Given the description of an element on the screen output the (x, y) to click on. 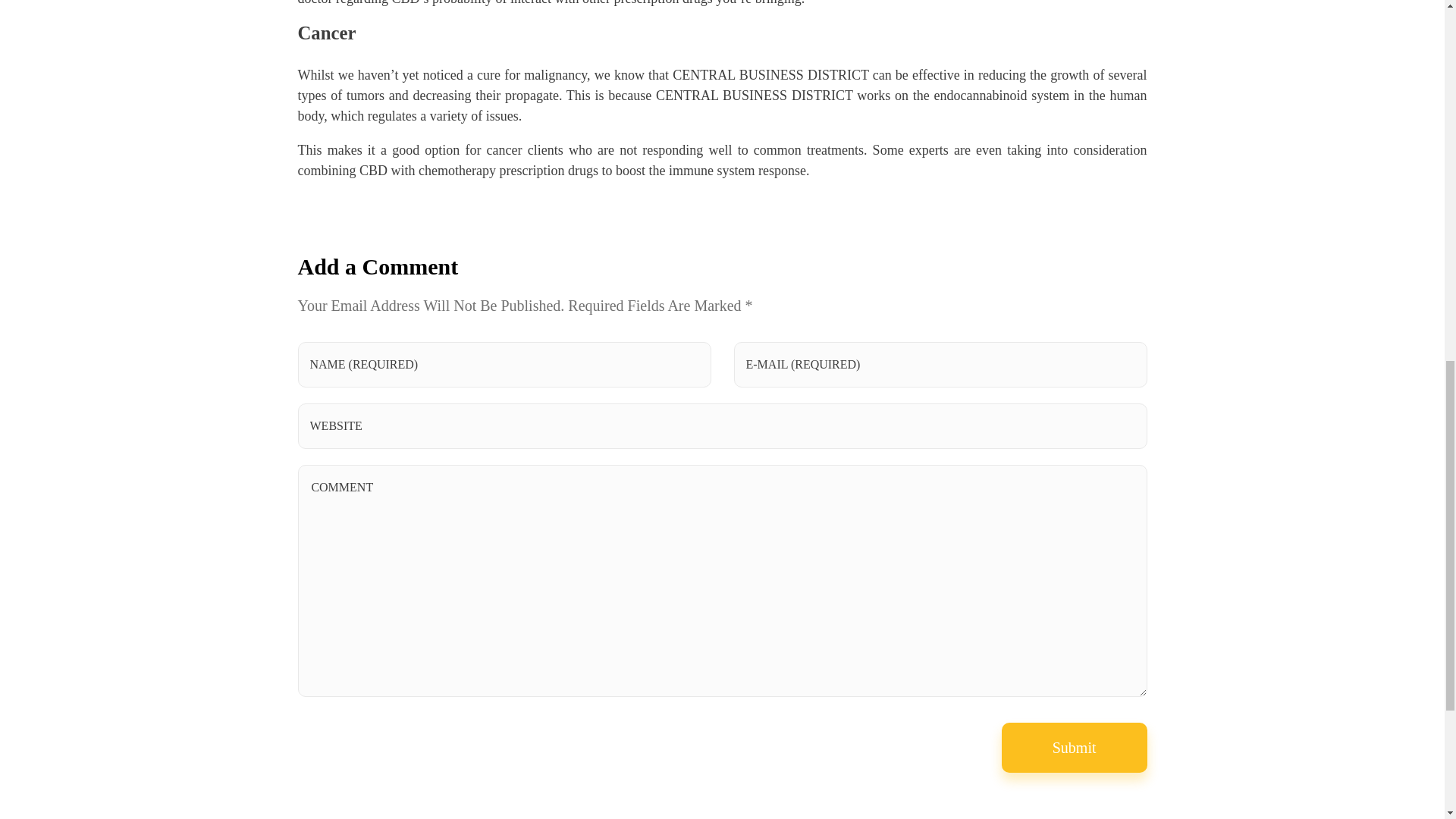
Submit (1074, 747)
